Given the description of an element on the screen output the (x, y) to click on. 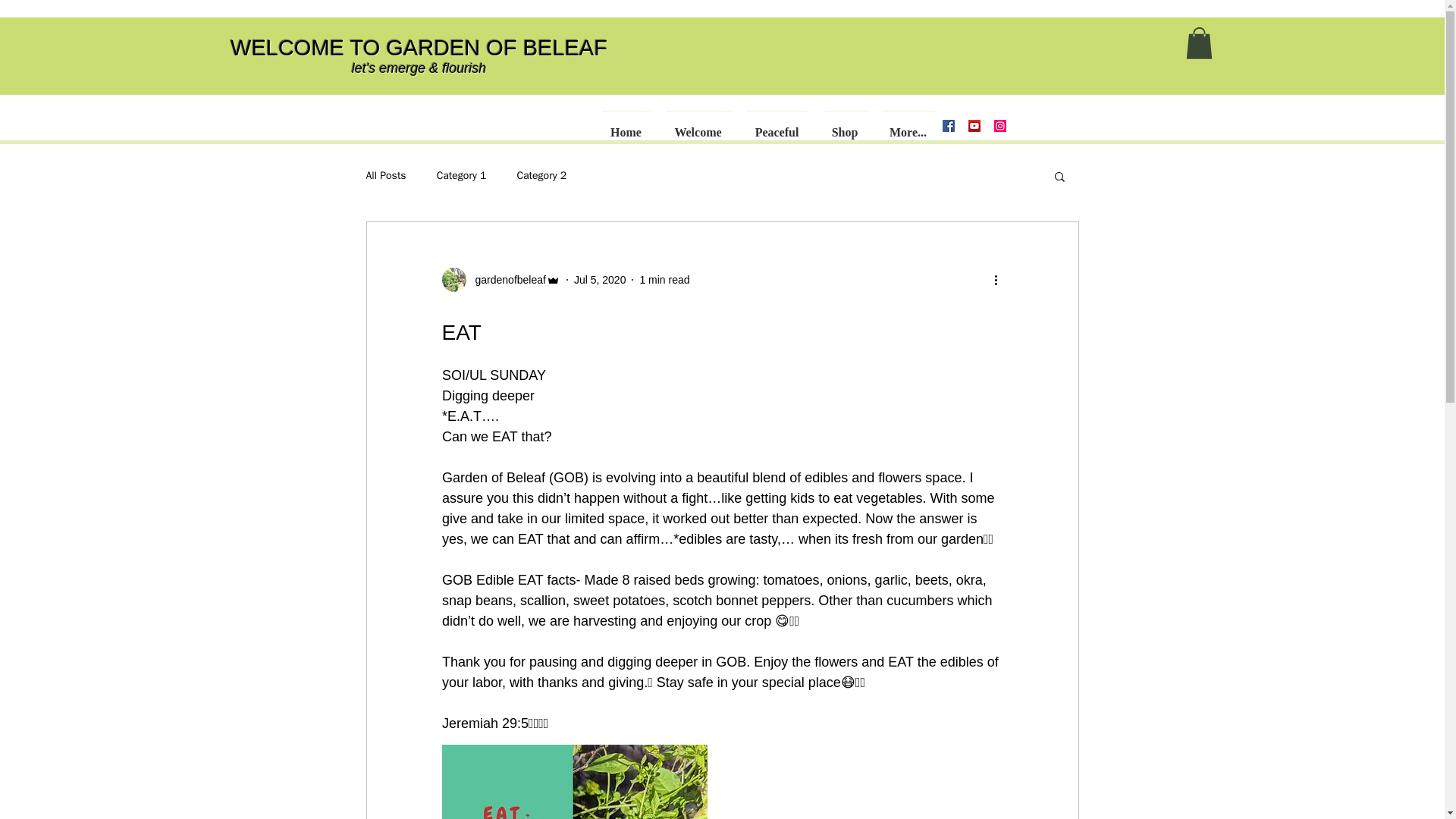
Category 1 (461, 175)
Category 2 (541, 175)
Home (626, 125)
Peaceful (774, 125)
Jul 5, 2020 (599, 278)
Welcome (698, 125)
gardenofbeleaf (504, 279)
All Posts (385, 175)
gardenofbeleaf (500, 279)
Shop (843, 125)
1 min read (663, 278)
